Given the description of an element on the screen output the (x, y) to click on. 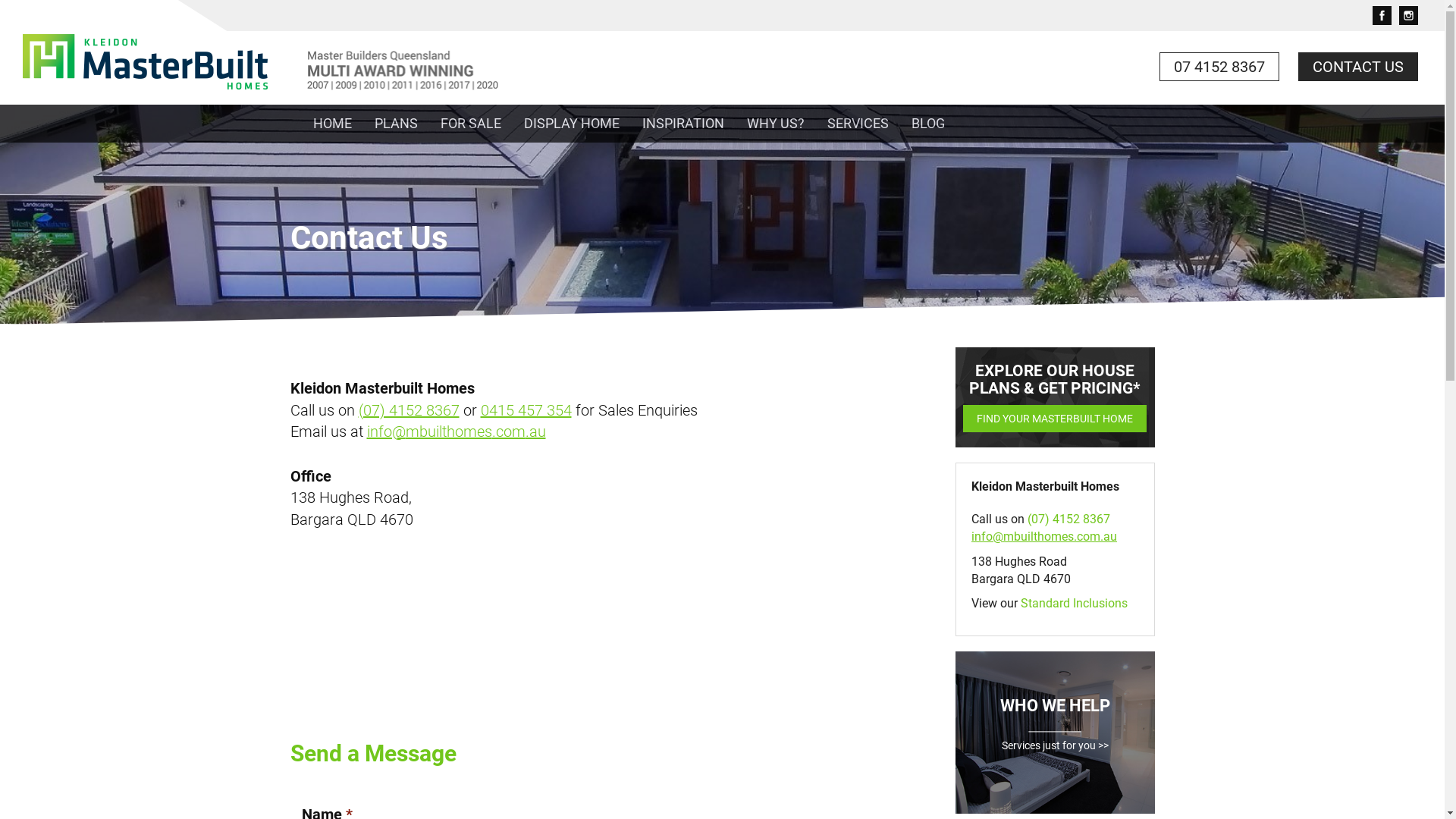
WHY US? Element type: text (775, 123)
DISPLAY HOME Element type: text (571, 123)
BLOG Element type: text (927, 123)
0415 457 354 Element type: text (525, 410)
FIND YOUR MASTERBUILT HOME Element type: text (1054, 418)
(07) 4152 8367 Element type: text (1068, 518)
info@mbuilthomes.com.au Element type: text (456, 431)
(07) 4152 8367 Element type: text (407, 410)
CONTACT US Element type: text (1358, 66)
FOR SALE Element type: text (470, 123)
HOME Element type: text (332, 123)
SERVICES Element type: text (857, 123)
07 4152 8367 Element type: text (1219, 66)
INSPIRATION Element type: text (682, 123)
Standard Inclusions Element type: text (1073, 603)
info@mbuilthomes.com.au Element type: text (1044, 536)
PLANS Element type: text (395, 123)
